Given the description of an element on the screen output the (x, y) to click on. 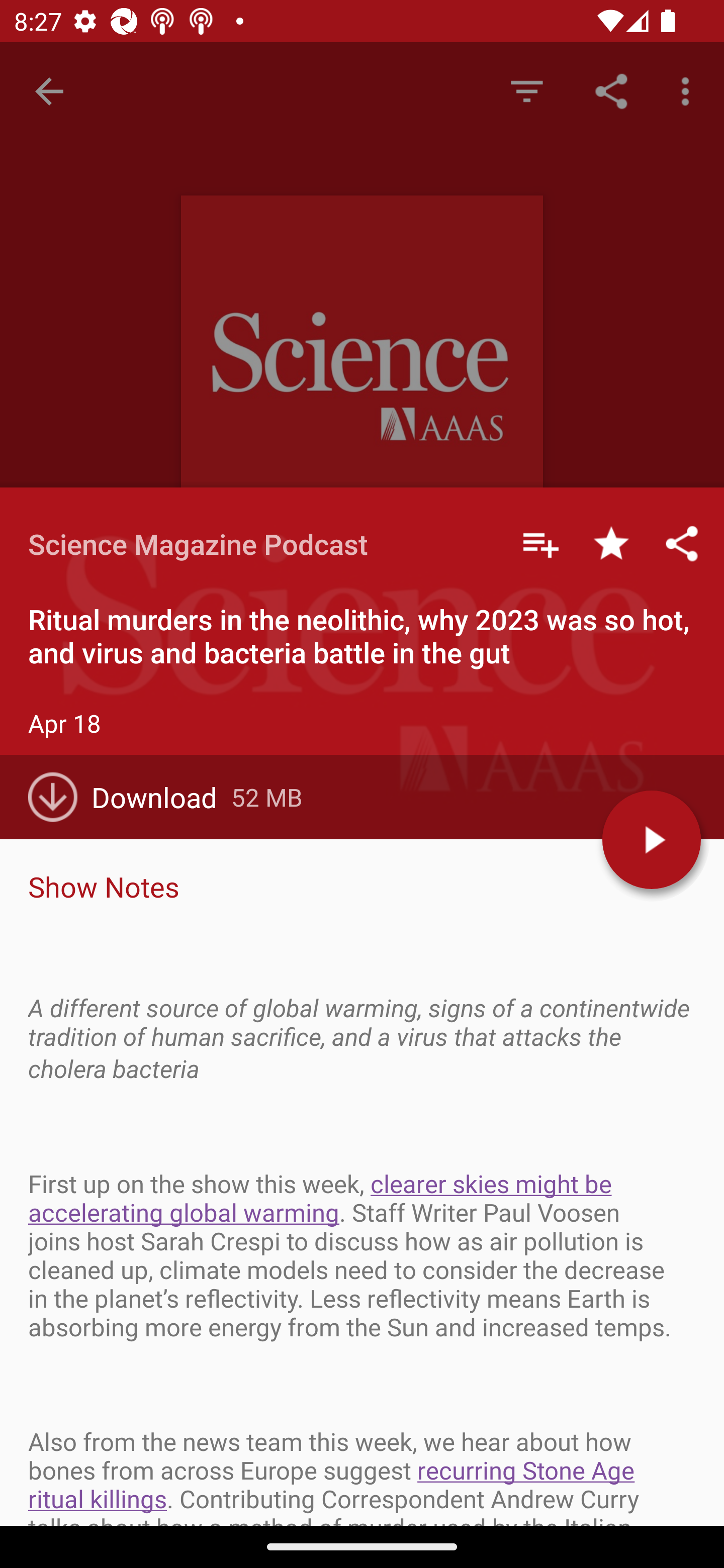
Navigate up (49, 91)
Hide Episodes (526, 90)
Share Link (611, 90)
More options (688, 90)
Download (129, 797)
